Given the description of an element on the screen output the (x, y) to click on. 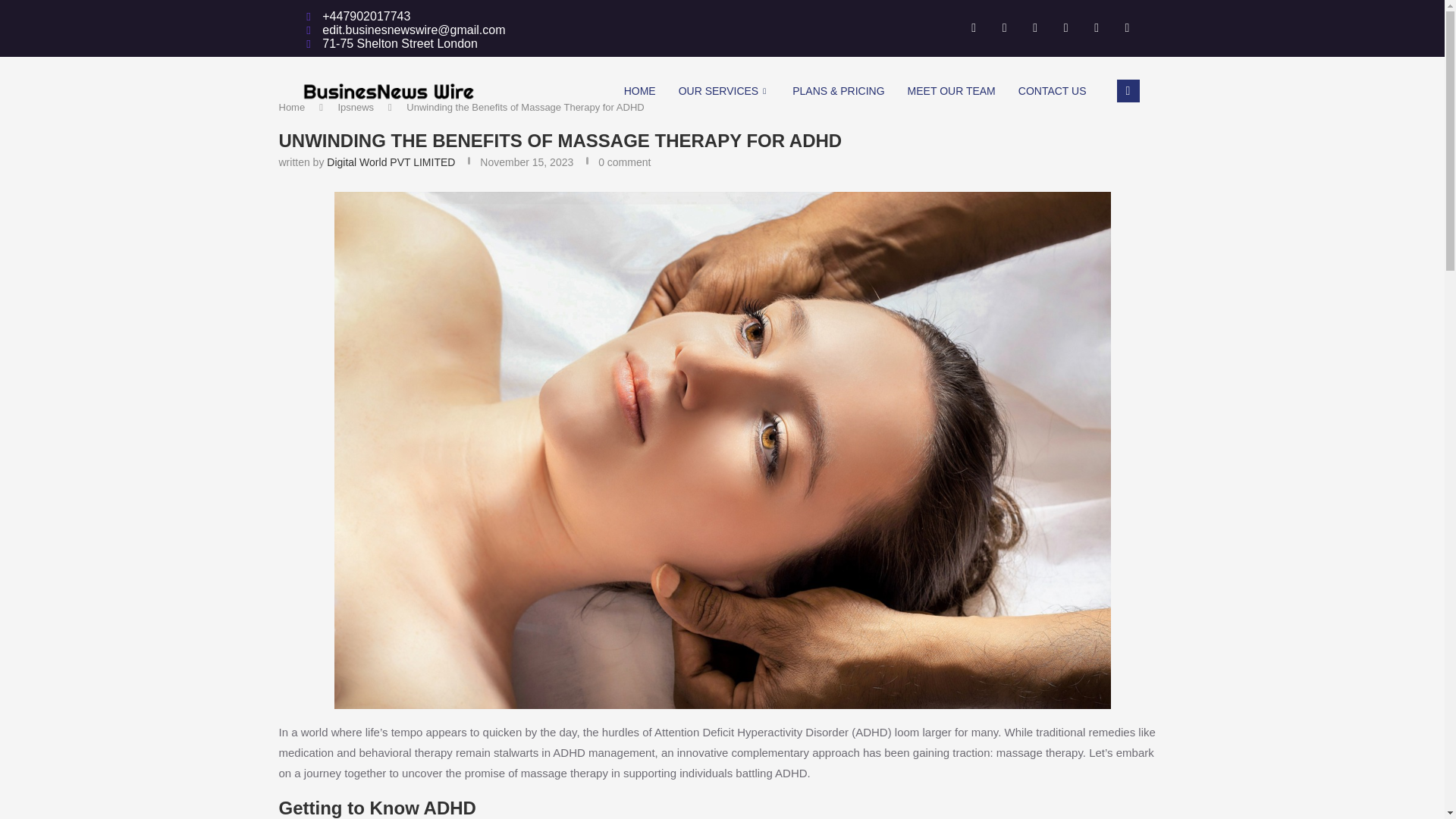
CONTACT US (1052, 90)
MEET OUR TEAM (951, 90)
HOME (639, 90)
OUR SERVICES (723, 90)
Digital World PVT LIMITED (390, 162)
Ipsnews (355, 107)
Home (292, 107)
